Given the description of an element on the screen output the (x, y) to click on. 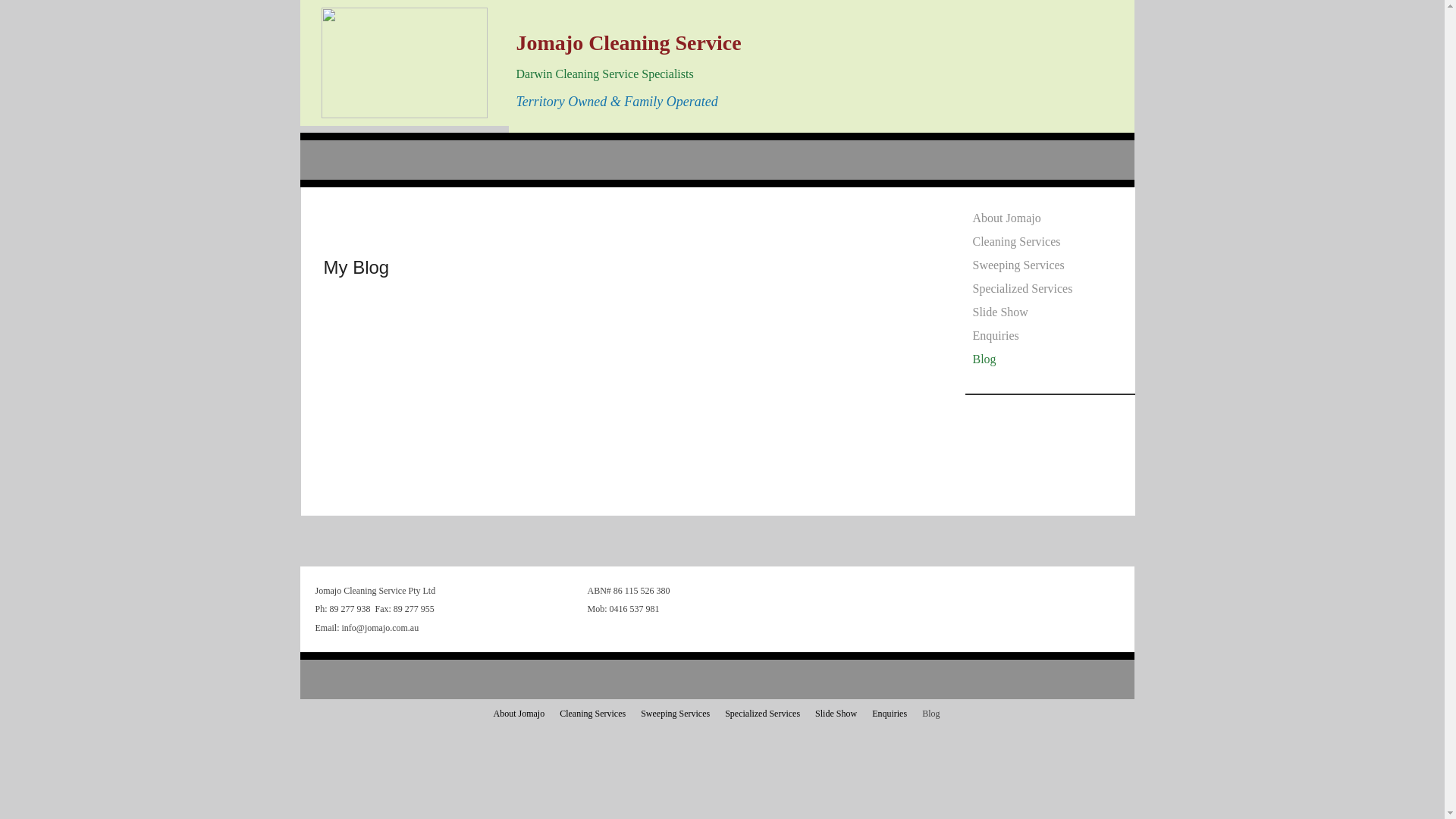
Blog Element type: text (930, 713)
About Jomajo Element type: text (1006, 218)
Sweeping Services Element type: text (675, 713)
About Jomajo Element type: text (518, 713)
info@jomajo.com.au Element type: text (379, 627)
Sweeping Services Element type: text (1017, 265)
Enquiries Element type: text (995, 335)
Cleaning Services Element type: text (592, 713)
Blog Element type: text (983, 359)
Slide Show Element type: text (999, 312)
Enquiries Element type: text (889, 713)
Slide Show Element type: text (835, 713)
Cleaning Services Element type: text (1015, 241)
Specialized Services Element type: text (1021, 288)
Specialized Services Element type: text (762, 713)
